Given the description of an element on the screen output the (x, y) to click on. 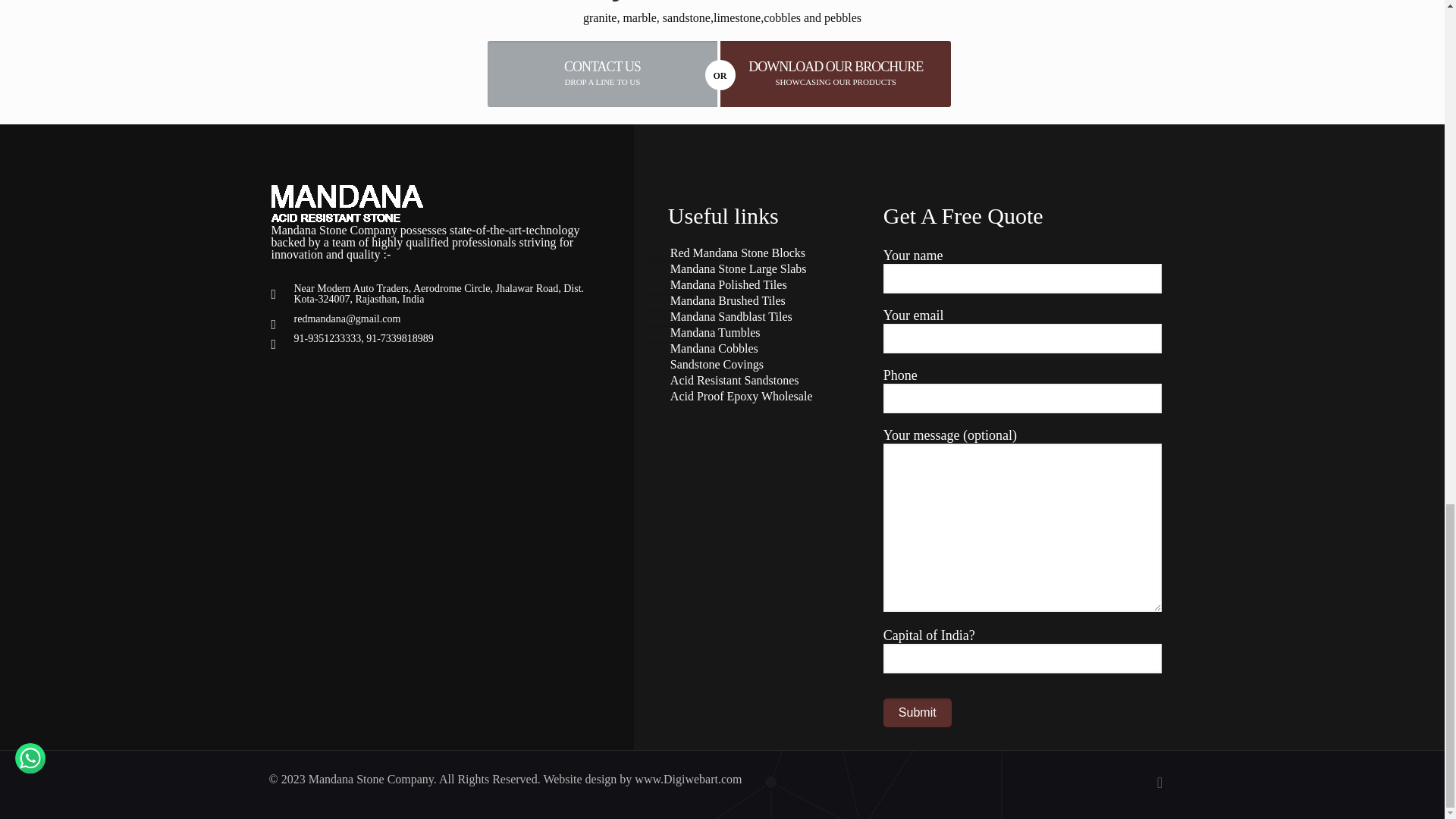
Submit (917, 712)
